Given the description of an element on the screen output the (x, y) to click on. 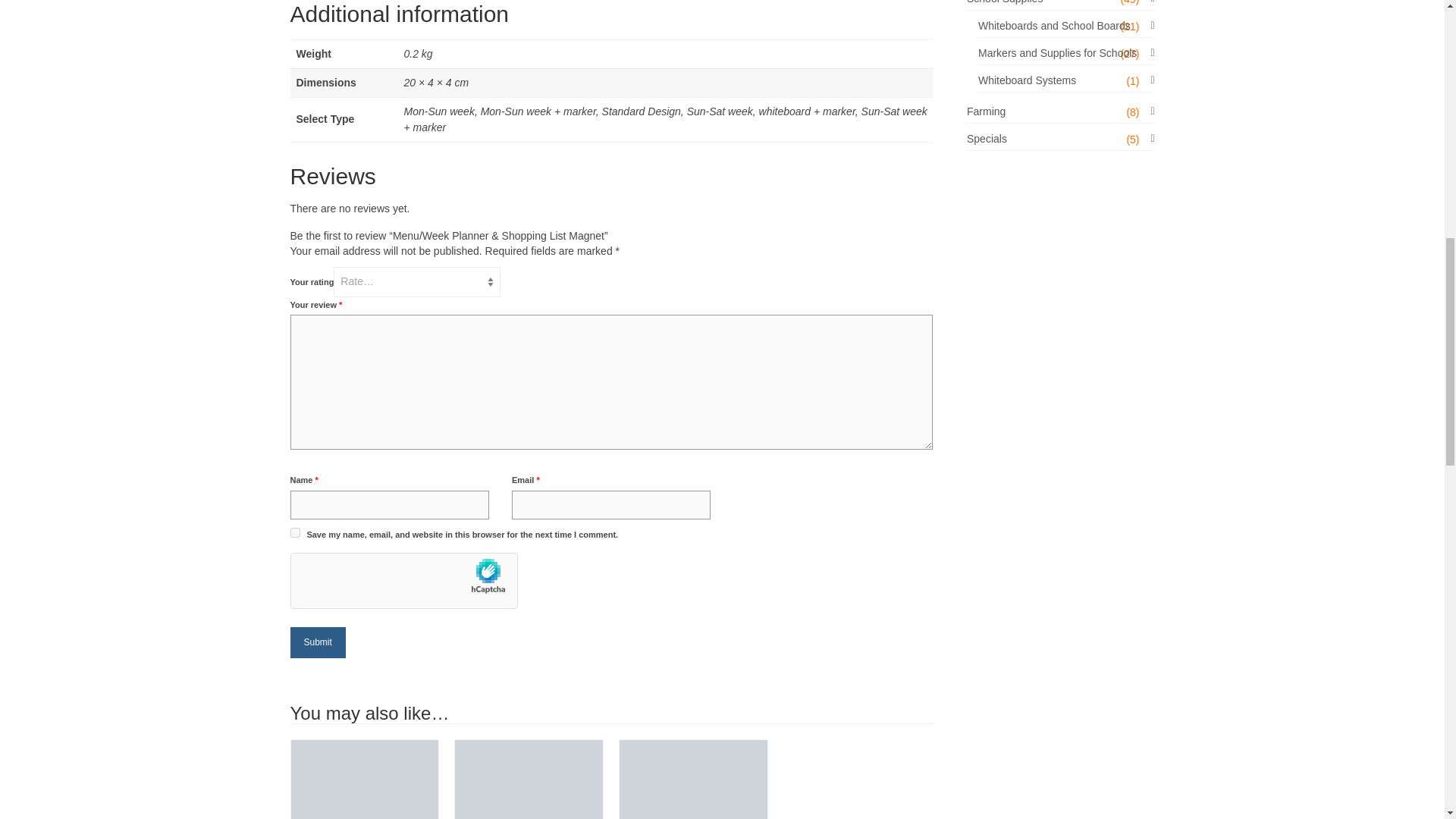
yes (294, 532)
Submit (317, 642)
